Given the description of an element on the screen output the (x, y) to click on. 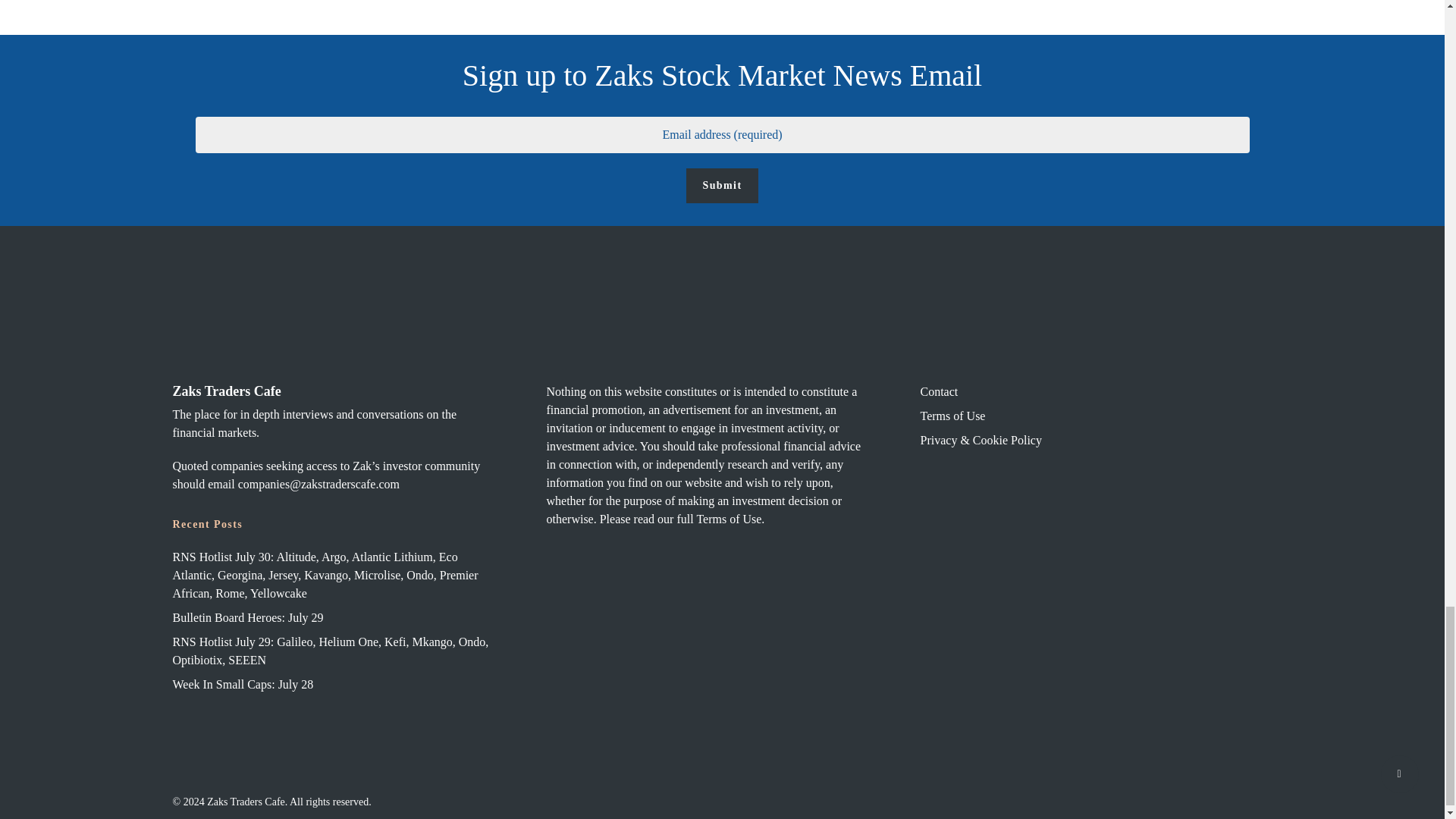
Bulletin Board Heroes: July 29 (331, 618)
Terms of Use (728, 518)
Submit (721, 185)
Submit (721, 185)
Terms of Use (1078, 416)
Week In Small Caps: July 28 (331, 684)
Contact (1078, 392)
